Given the description of an element on the screen output the (x, y) to click on. 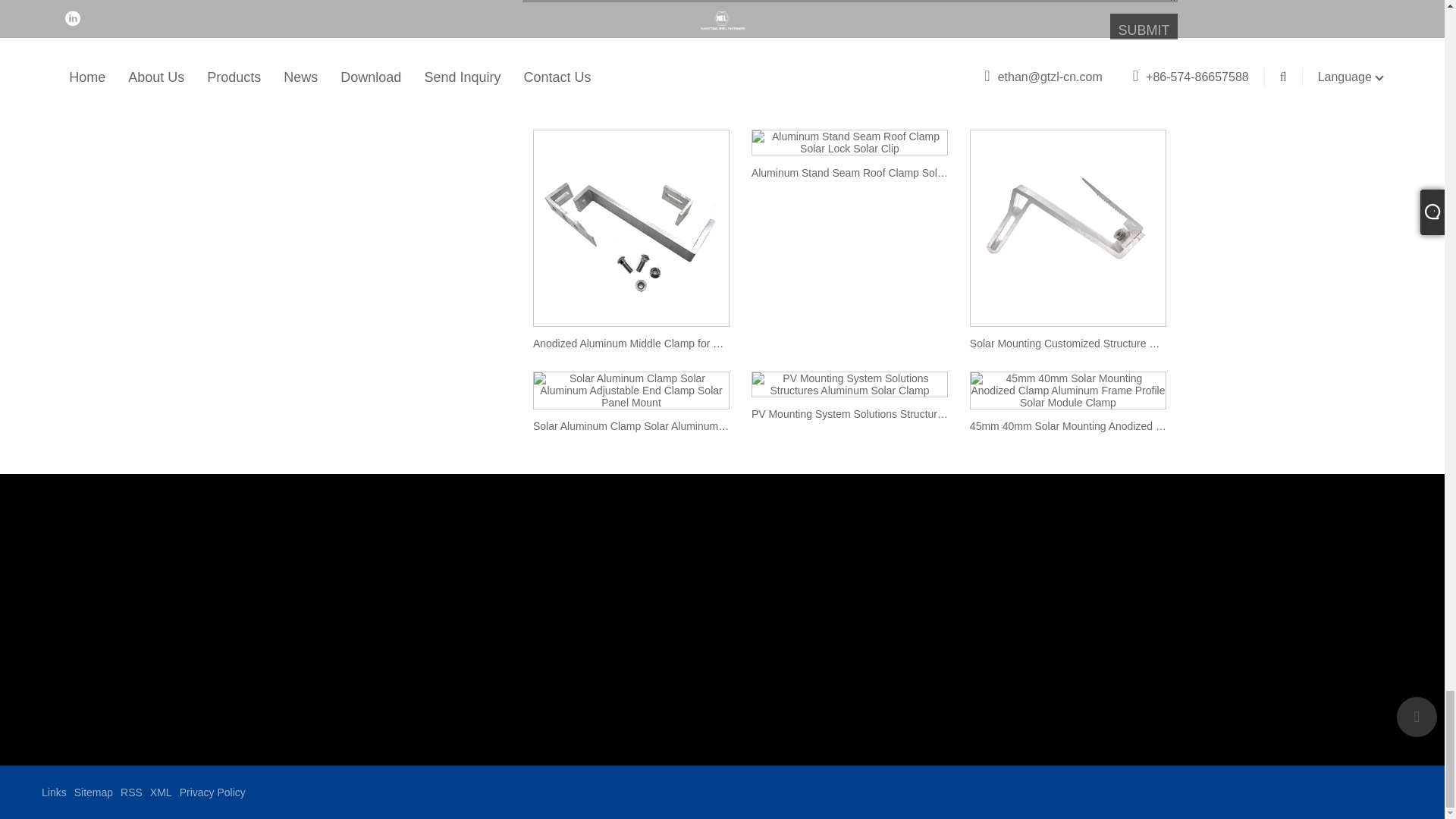
SUBMIT (1142, 30)
